Given the description of an element on the screen output the (x, y) to click on. 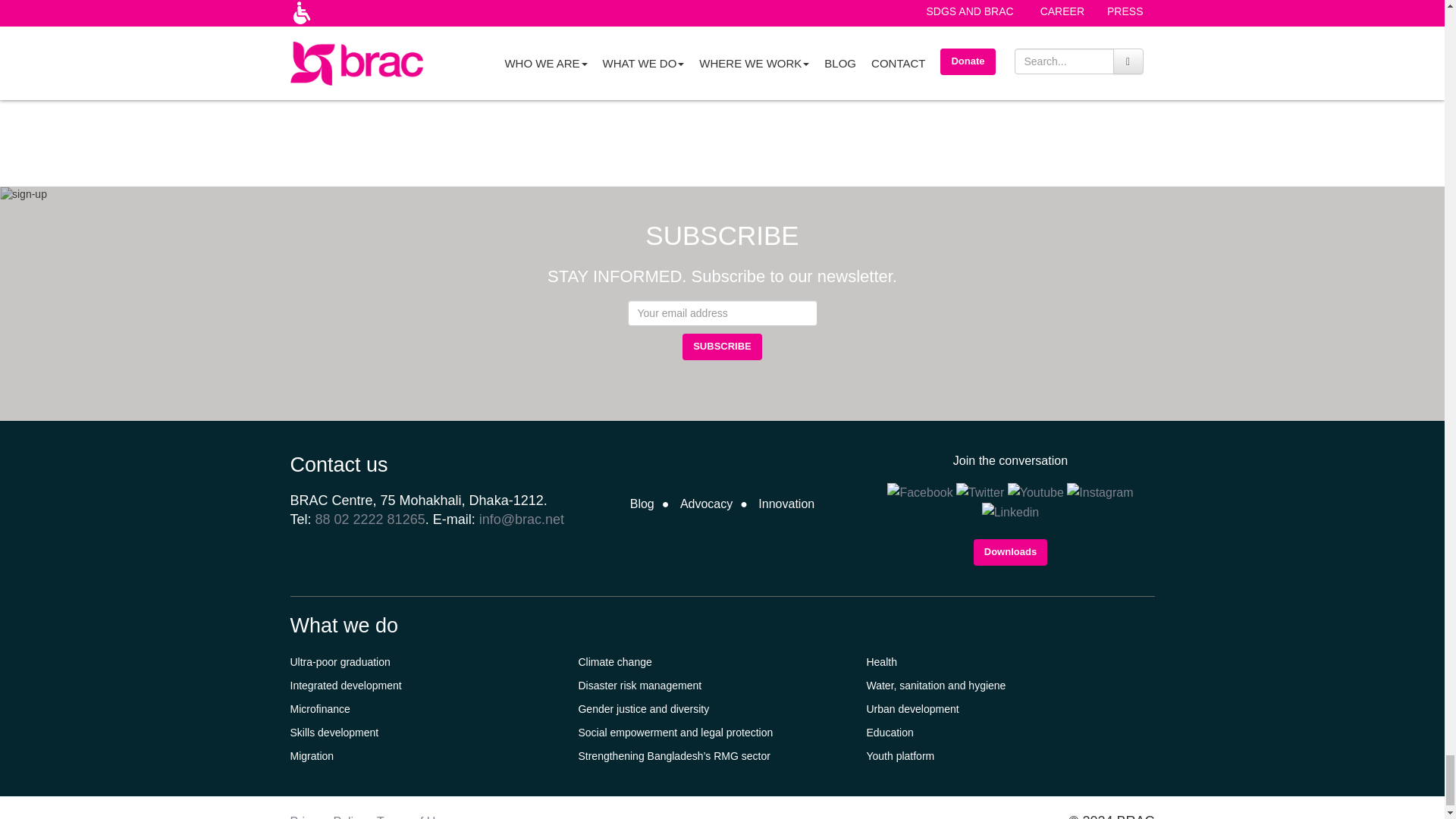
Subscribe (721, 346)
